Given the description of an element on the screen output the (x, y) to click on. 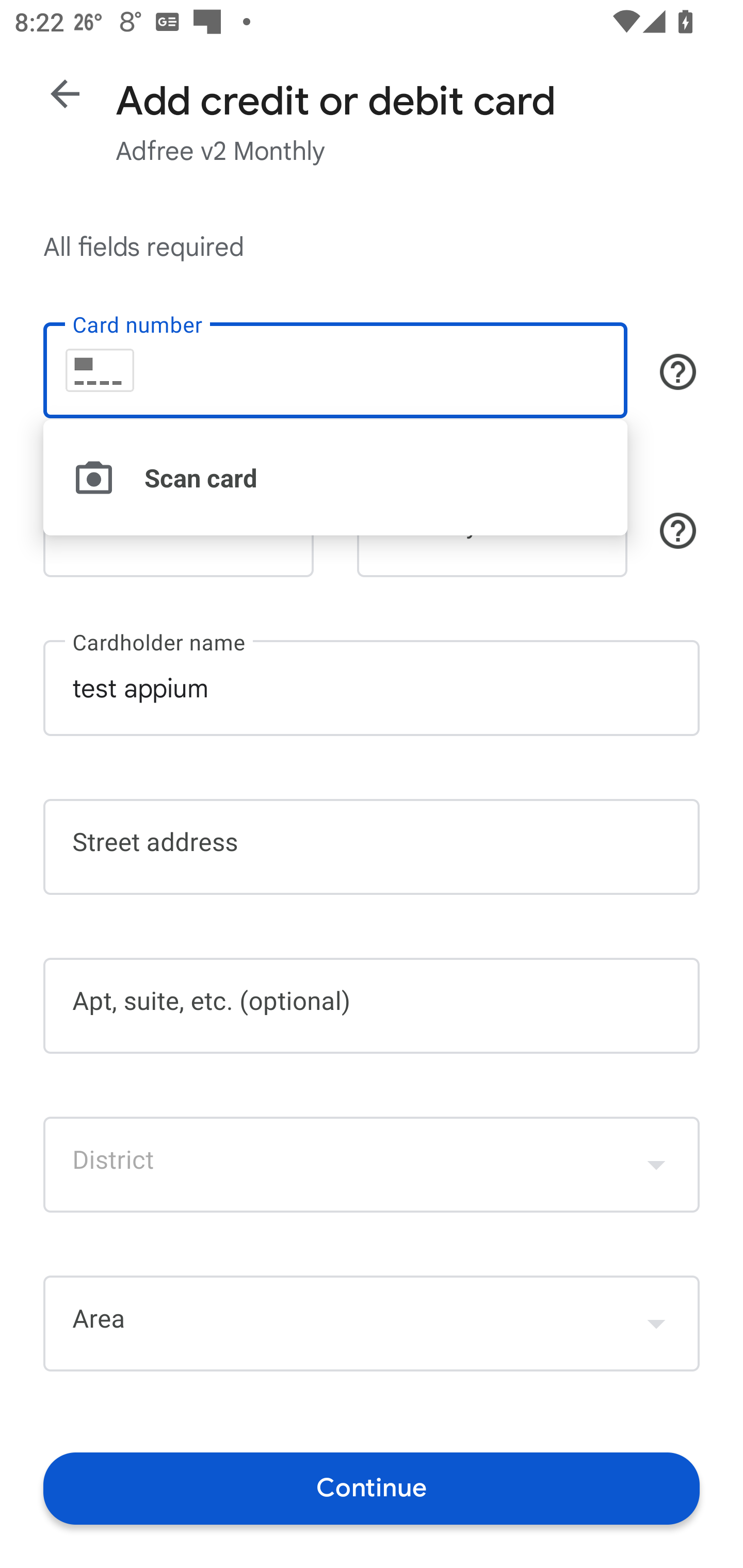
Back (64, 93)
Card number (335, 370)
Button, shows cards that are accepted for payment (677, 371)
Security code help (677, 530)
test appium (371, 687)
Street address (371, 847)
Apt, suite, etc. (optional) (371, 1005)
District (371, 1164)
Show dropdown menu (655, 1164)
Area (371, 1323)
Show dropdown menu (655, 1323)
Continue (371, 1487)
